Given the description of an element on the screen output the (x, y) to click on. 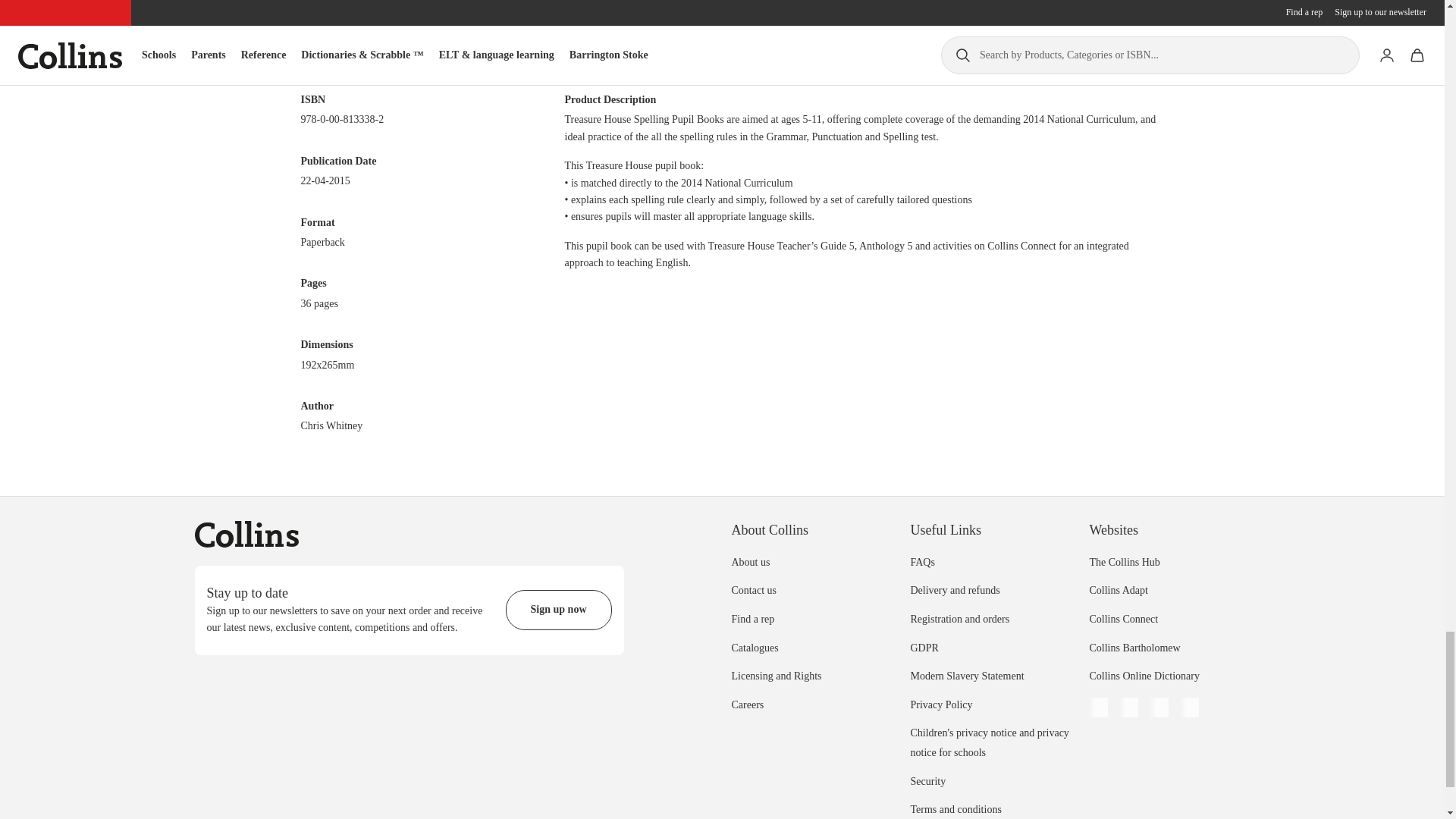
Security (927, 781)
Children's privacy notice and privacy notice for schools (989, 742)
Licensing and Rights (775, 675)
Privacy Policy (941, 704)
Sign up now (558, 609)
Delivery and refunds (954, 590)
Terms and conditions (955, 808)
Registration and orders (959, 618)
GDPR (923, 647)
Find a rep (752, 618)
Careers (746, 704)
About us (750, 562)
Contact us (753, 590)
Modern Slavery Statement (966, 675)
Catalogues (753, 647)
